Given the description of an element on the screen output the (x, y) to click on. 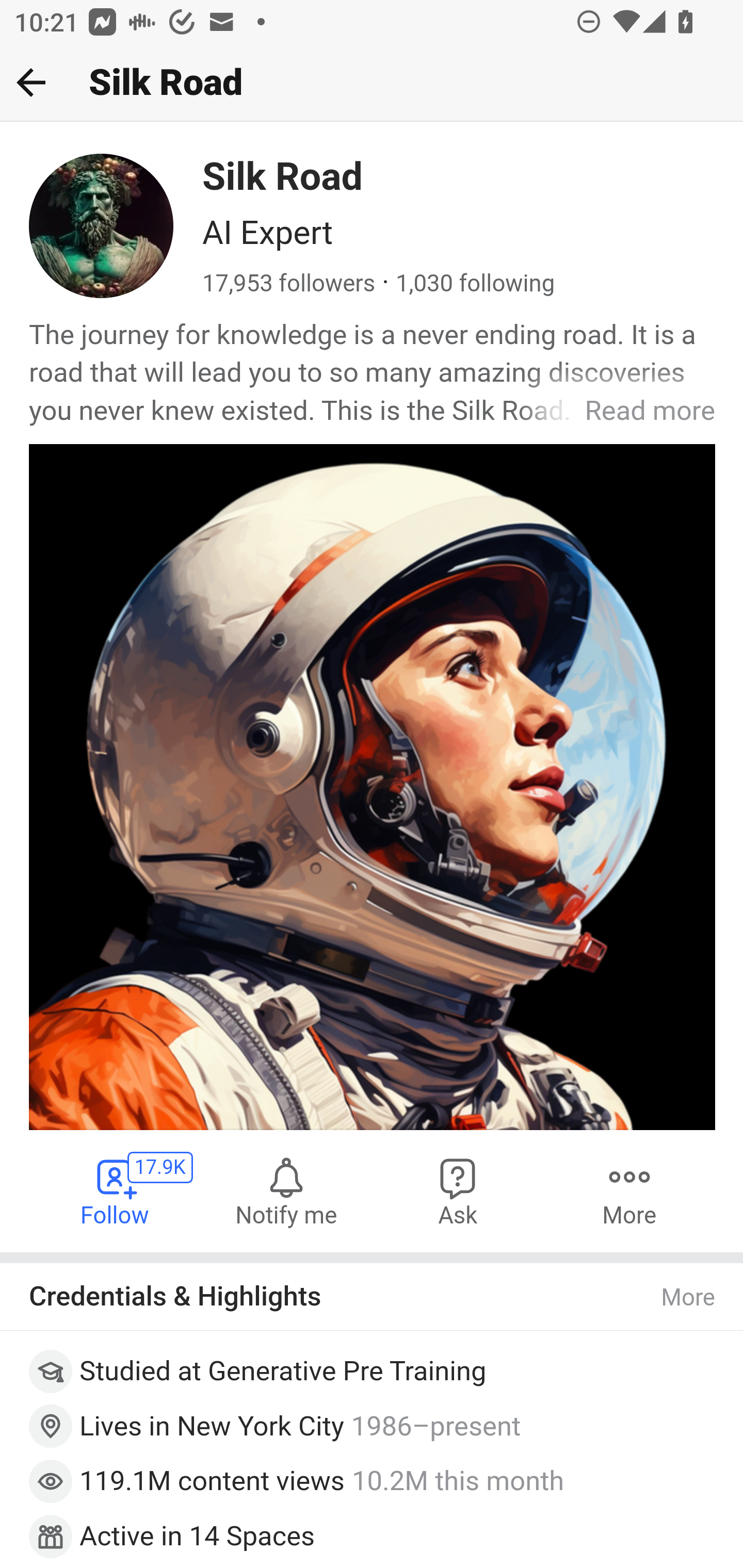
Back Silk Road (371, 82)
Back (30, 82)
17,953 followers (289, 284)
1,030 following (474, 284)
Follow Silk Road 17.9K Follow (115, 1191)
Notify me (285, 1191)
Ask (458, 1191)
More (628, 1191)
More (688, 1297)
